Given the description of an element on the screen output the (x, y) to click on. 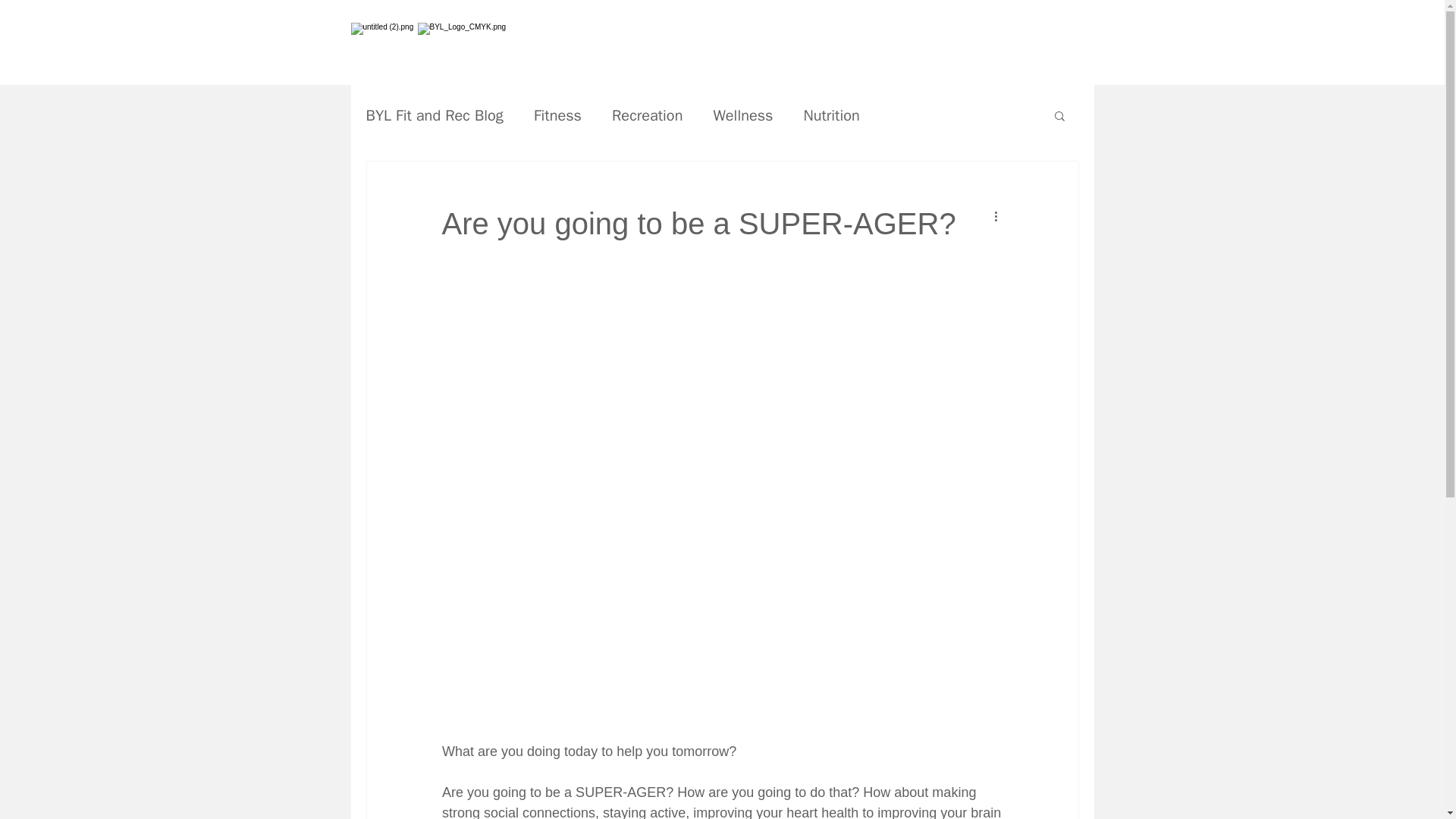
Fitness (557, 114)
Recreation (646, 114)
BYL Fit and Rec Blog (433, 114)
Nutrition (831, 114)
Wellness (743, 114)
